Given the description of an element on the screen output the (x, y) to click on. 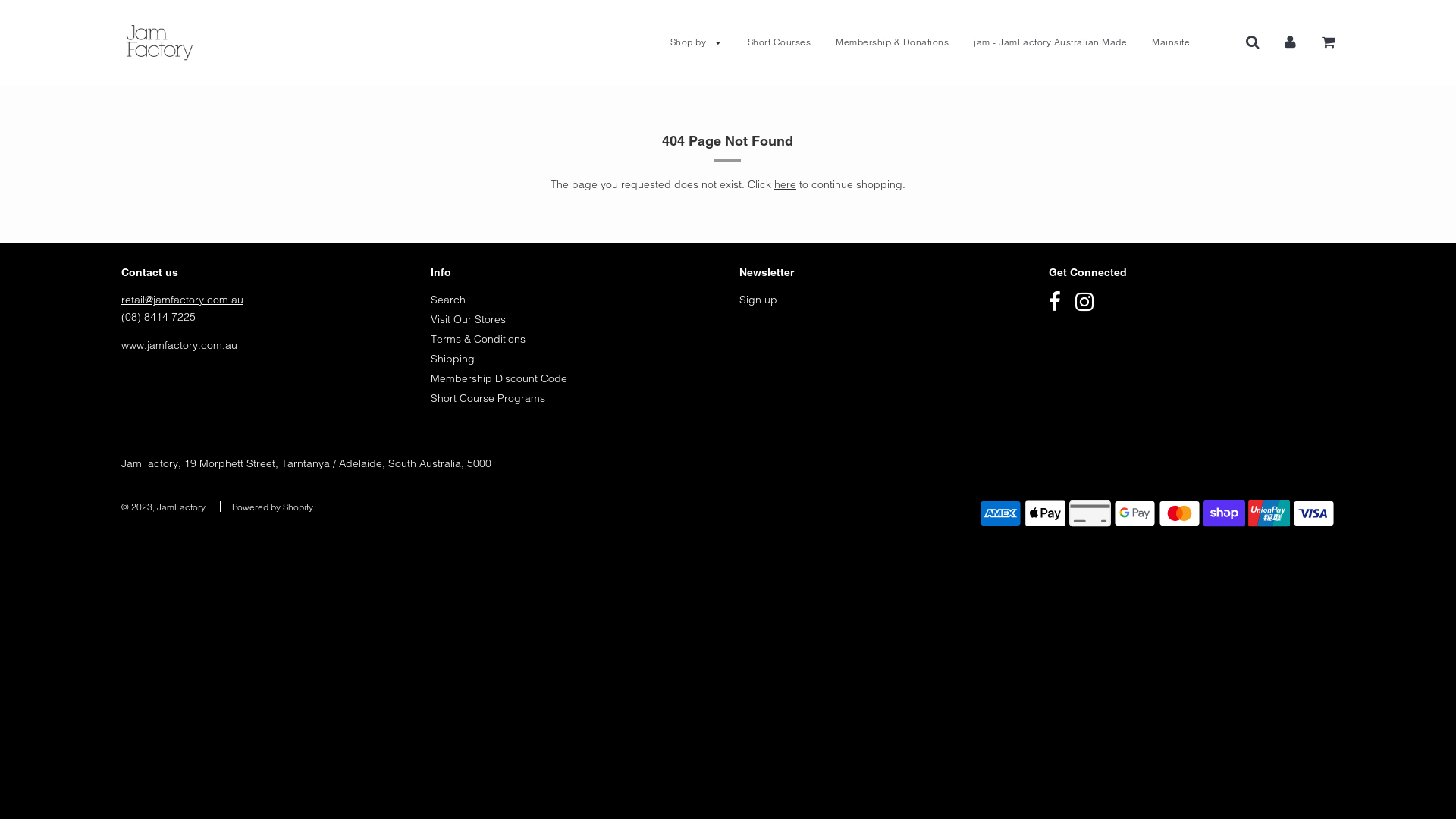
Mainsite Element type: text (1164, 42)
Membership Discount Code Element type: text (498, 378)
retail@jamfactory.com.au Element type: text (182, 299)
Membership & Donations Element type: text (892, 42)
Short Courses Element type: text (778, 42)
Visit Our Stores Element type: text (467, 319)
Search Element type: text (447, 299)
jam - JamFactory.Australian.Made Element type: text (1050, 42)
www.jamfactory.com.au Element type: text (179, 344)
Powered by Shopify Element type: text (272, 506)
Terms & Conditions Element type: text (477, 338)
Short Course Programs Element type: text (487, 397)
Shop by Element type: text (695, 42)
here Element type: text (785, 184)
Shipping Element type: text (452, 358)
Log in Element type: hover (1289, 41)
